Given the description of an element on the screen output the (x, y) to click on. 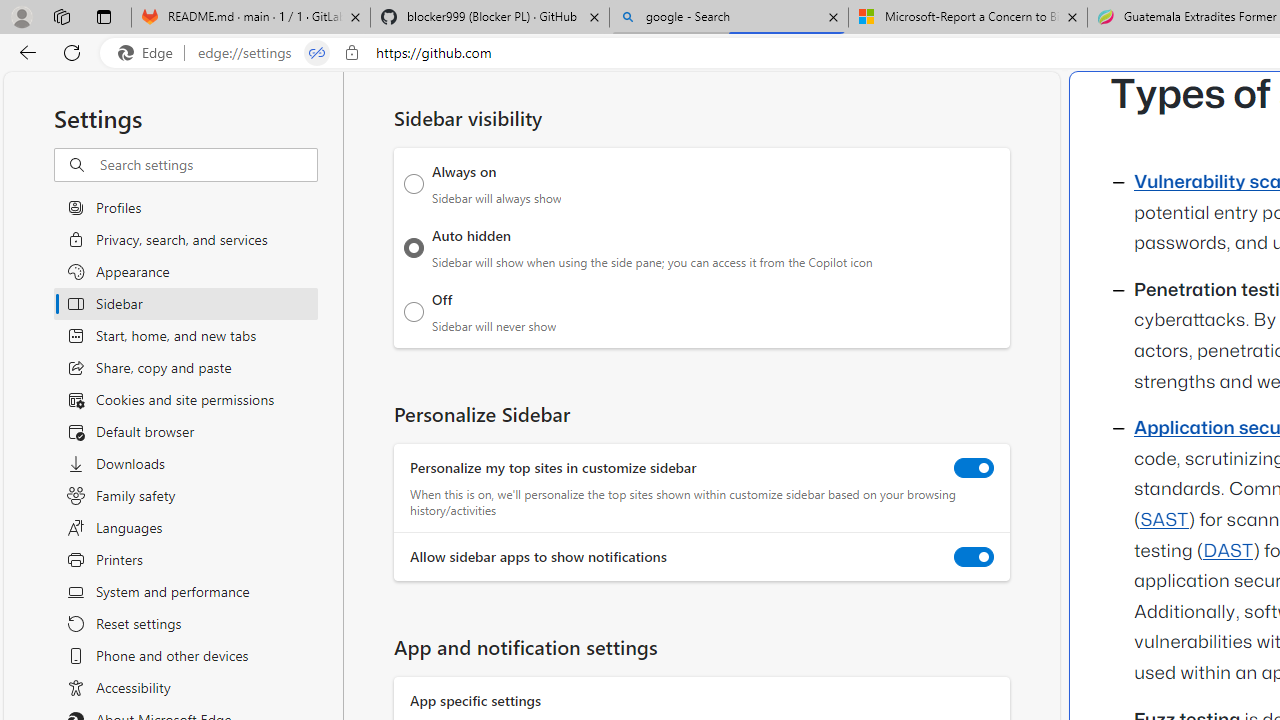
DAST (1228, 551)
Tabs in split screen (317, 53)
Always on Sidebar will always show (413, 183)
Edge (150, 53)
